Given the description of an element on the screen output the (x, y) to click on. 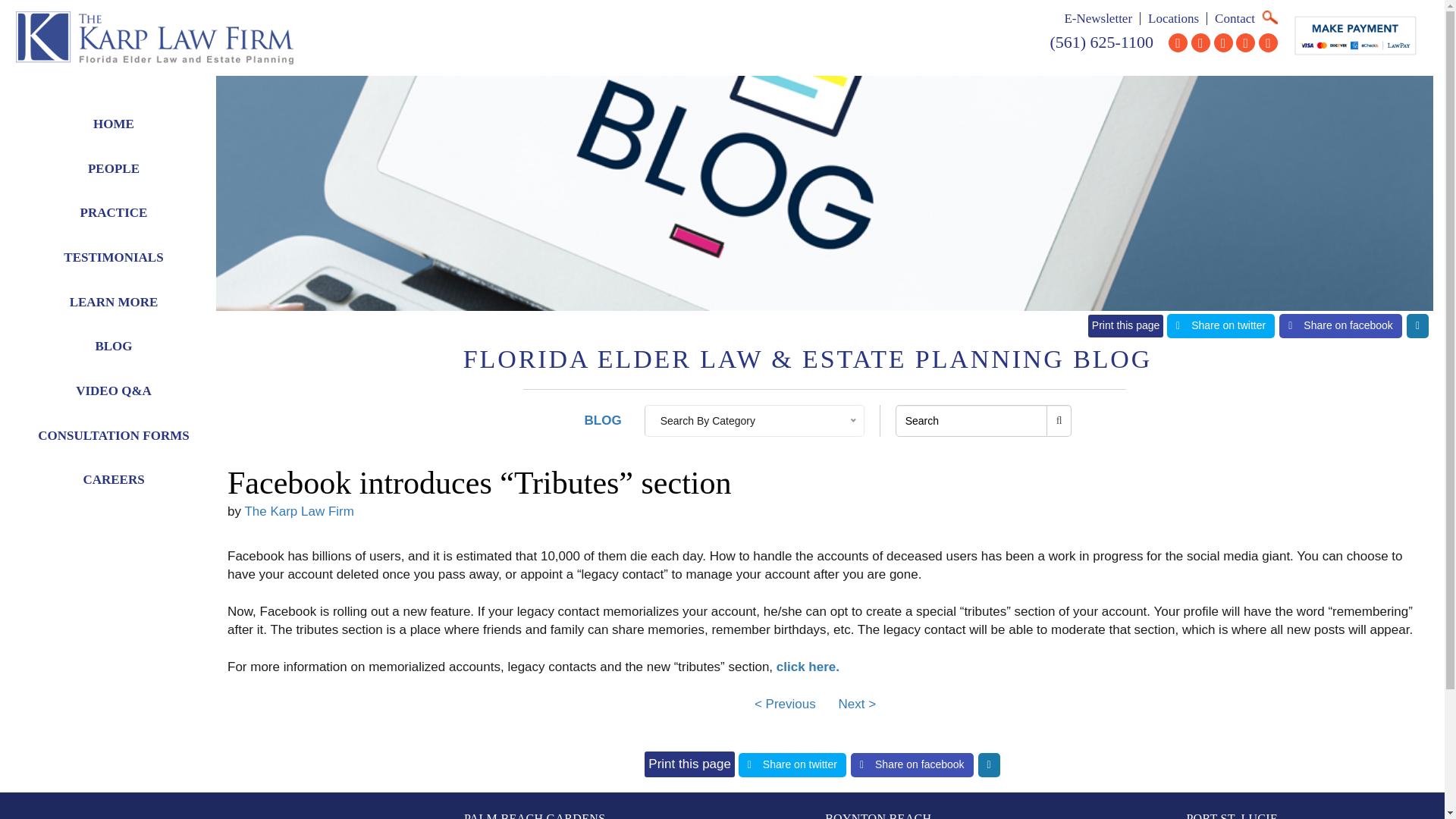
Home (113, 124)
TESTIMONIALS (113, 257)
PEOPLE (113, 169)
Contact (1234, 18)
Make Payment (1355, 35)
Practice (113, 212)
Locations (1173, 18)
PRACTICE (113, 212)
People (113, 169)
HOME (113, 124)
